Given the description of an element on the screen output the (x, y) to click on. 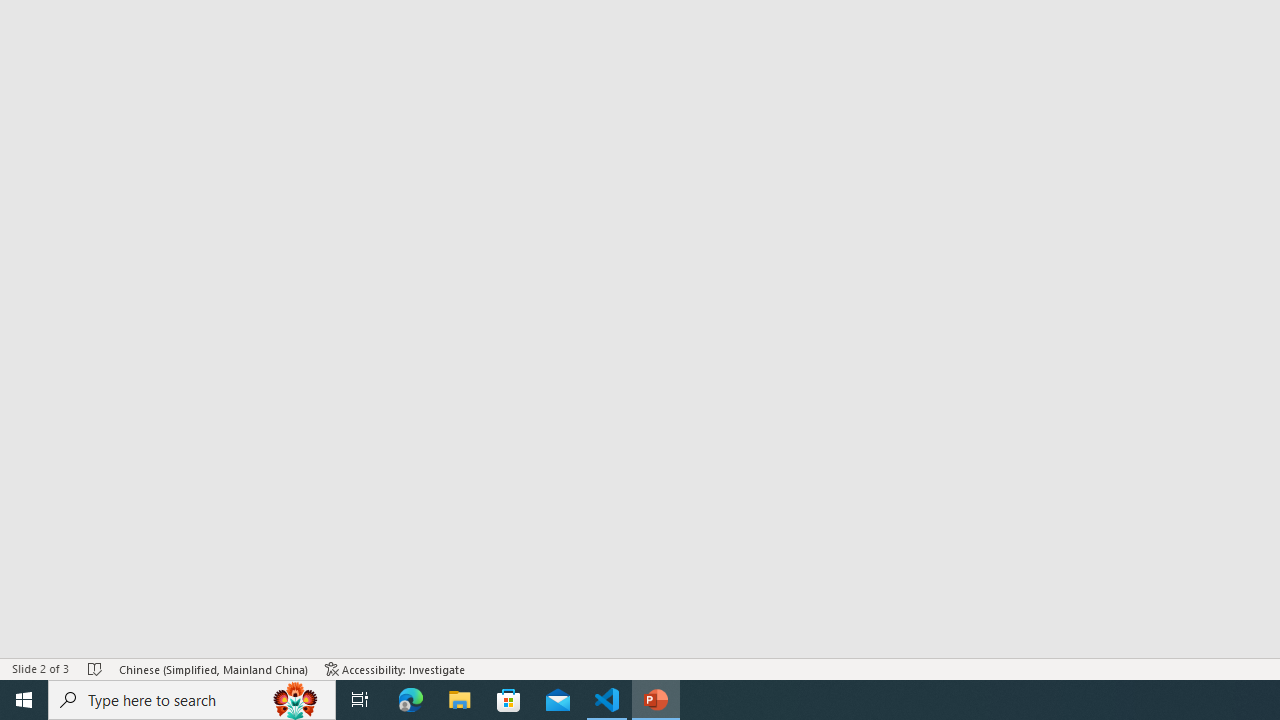
Accessibility Checker Accessibility: Investigate (395, 668)
Spell Check No Errors (95, 668)
